Given the description of an element on the screen output the (x, y) to click on. 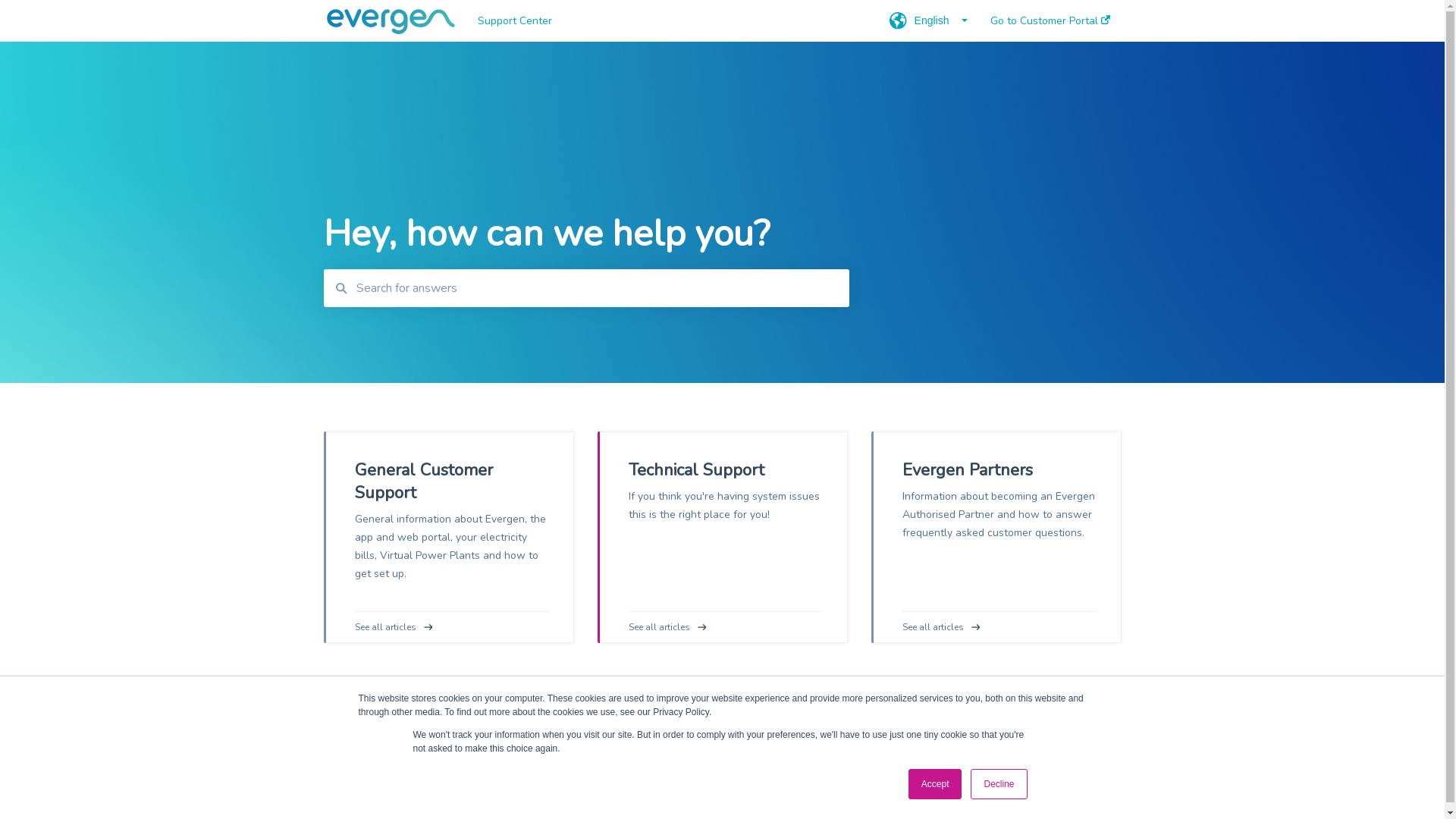
Accept Element type: text (935, 783)
Decline Element type: text (998, 783)
Go to Customer Portal Element type: text (792, 781)
Support Center Element type: text (660, 20)
